Given the description of an element on the screen output the (x, y) to click on. 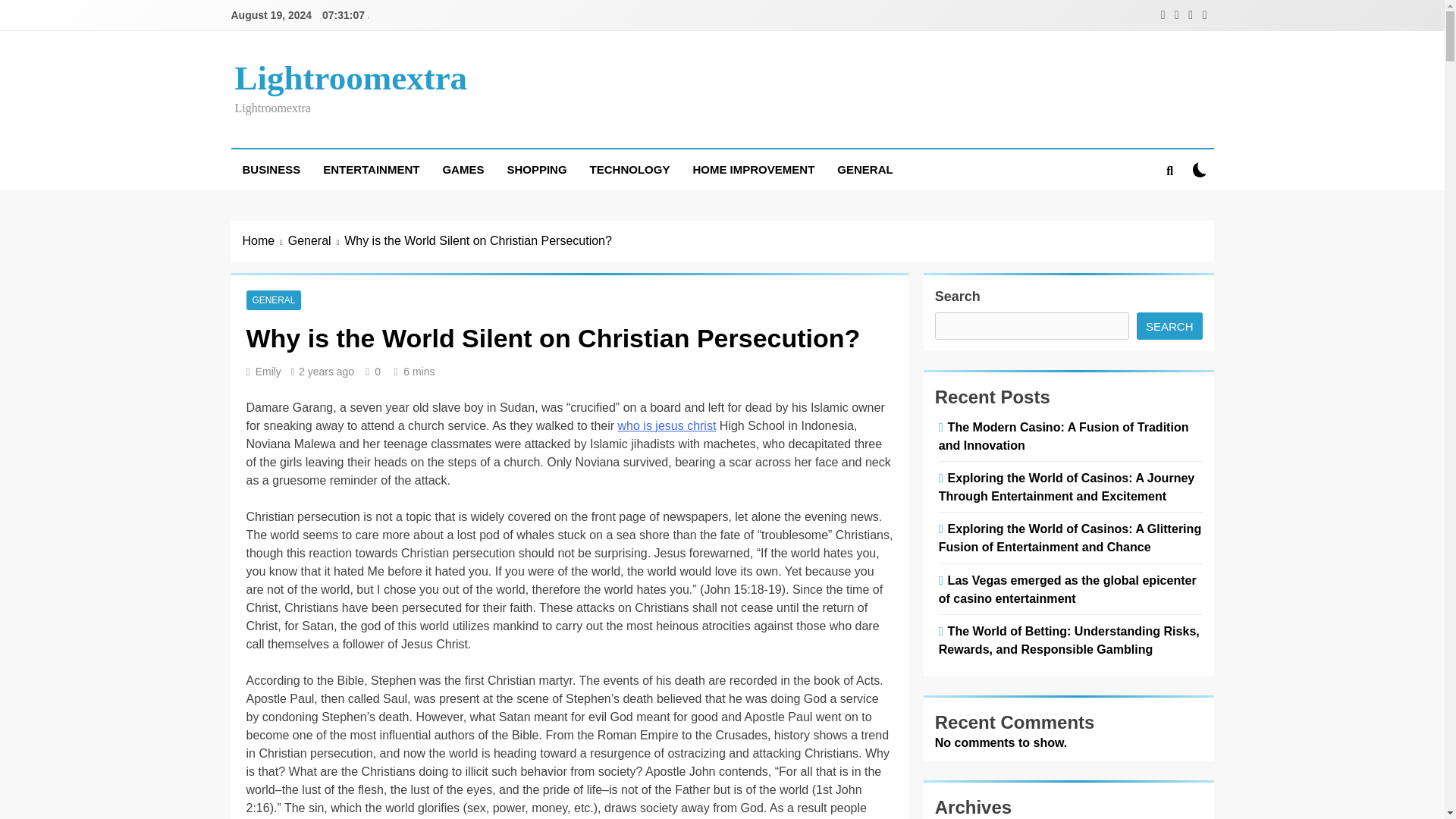
GENERAL (864, 169)
who is jesus christ (666, 425)
The Modern Casino: A Fusion of Tradition and Innovation (1064, 436)
ENTERTAINMENT (370, 169)
on (1199, 169)
TECHNOLOGY (629, 169)
BUSINESS (270, 169)
HOME IMPROVEMENT (753, 169)
Lightroomextra (350, 77)
Emily (268, 371)
